Given the description of an element on the screen output the (x, y) to click on. 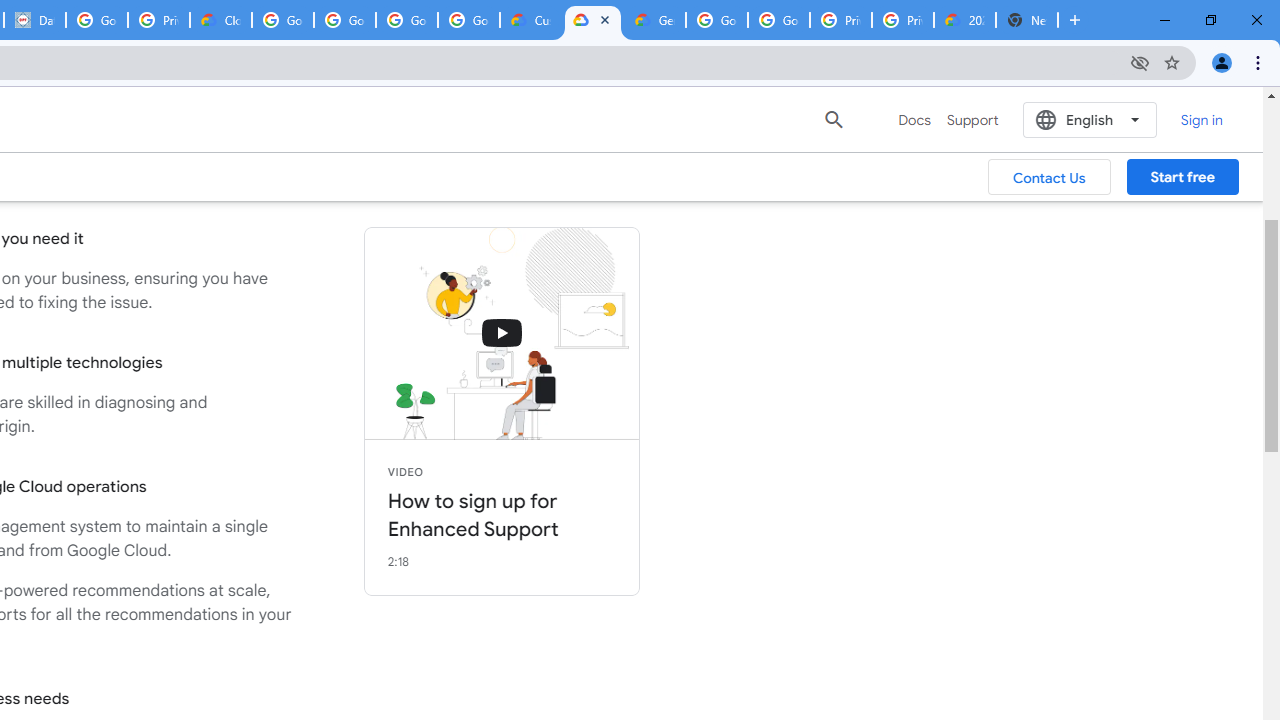
Cloud Data Processing Addendum | Google Cloud (220, 20)
Docs (914, 119)
Enhanced Support | Google Cloud (592, 20)
Contact Us (1049, 177)
Google Workspace - Specific Terms (406, 20)
Start free (1182, 177)
